Given the description of an element on the screen output the (x, y) to click on. 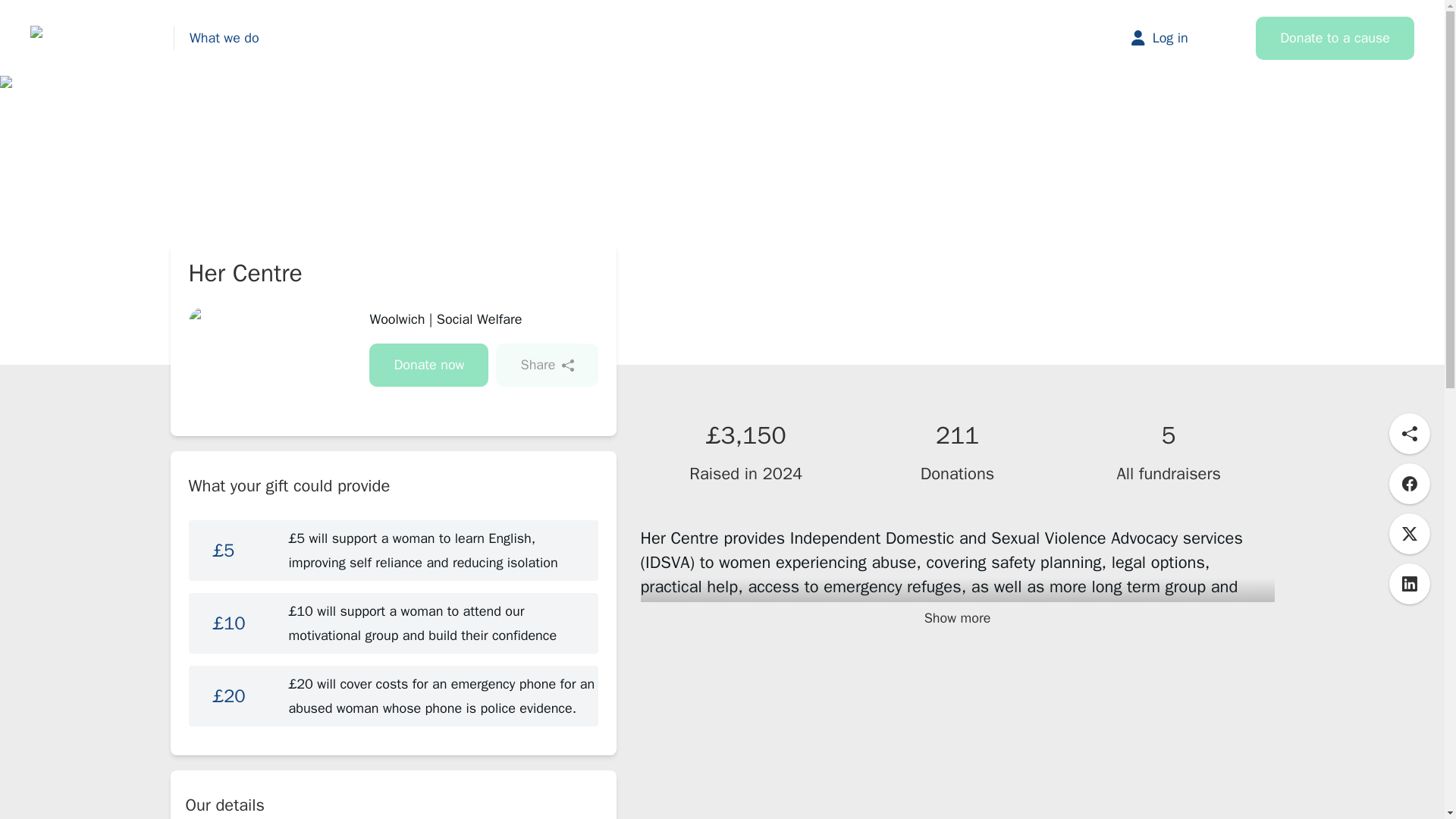
Show more (957, 617)
Donate now (428, 364)
Share (546, 364)
Log in (1173, 37)
Donate to a cause (1334, 37)
